Given the description of an element on the screen output the (x, y) to click on. 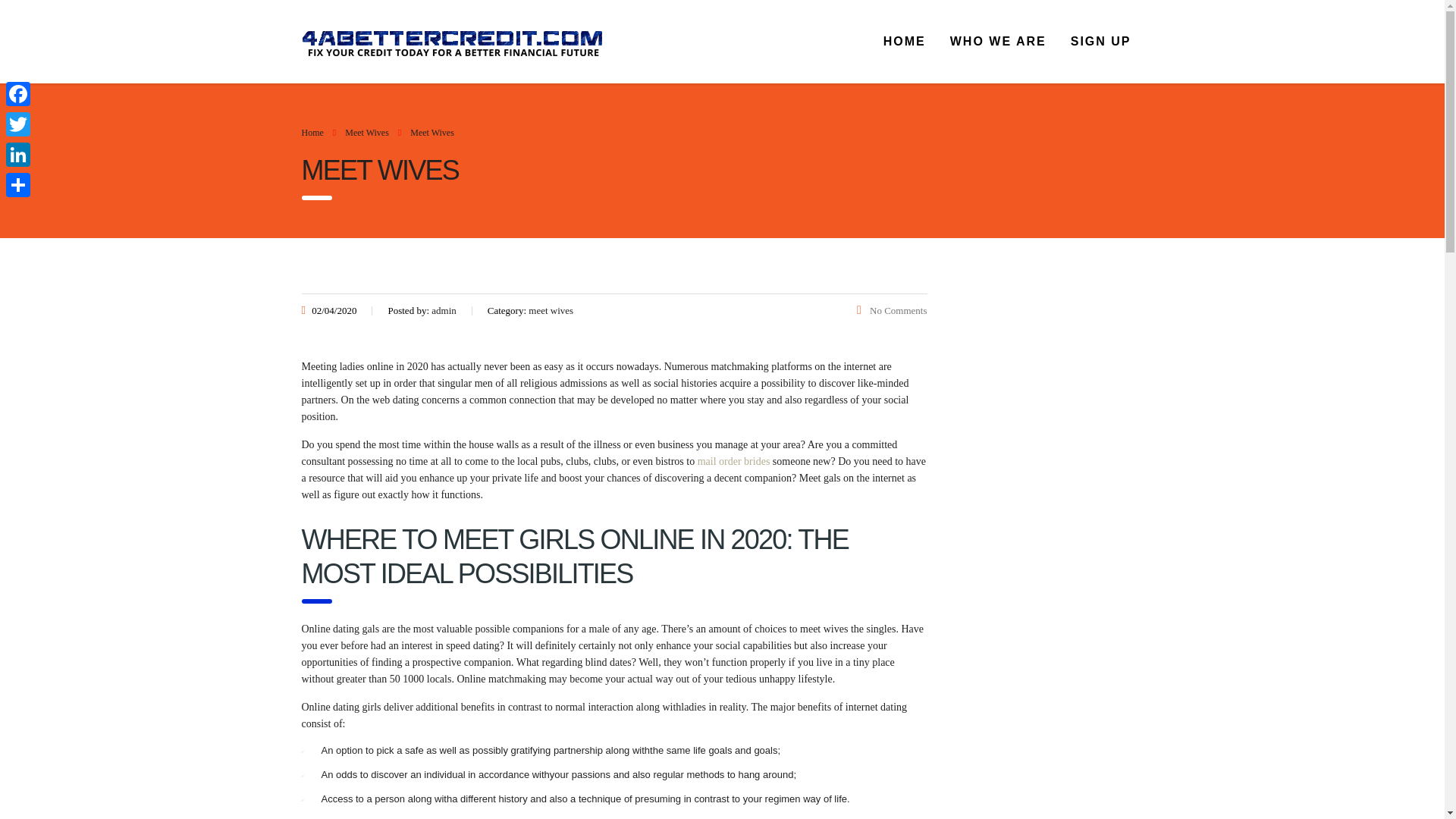
Go to the meet wives category archives. (366, 132)
Twitter (17, 123)
WHO WE ARE (997, 41)
Meet Wives (366, 132)
LinkedIn (17, 154)
Home (312, 132)
Twitter (17, 123)
LinkedIn (17, 154)
Facebook (17, 93)
No Comments (892, 310)
mail order brides (733, 460)
HOME (903, 41)
Facebook (17, 93)
Share (17, 184)
Go to 4abettercredit. (312, 132)
